Given the description of an element on the screen output the (x, y) to click on. 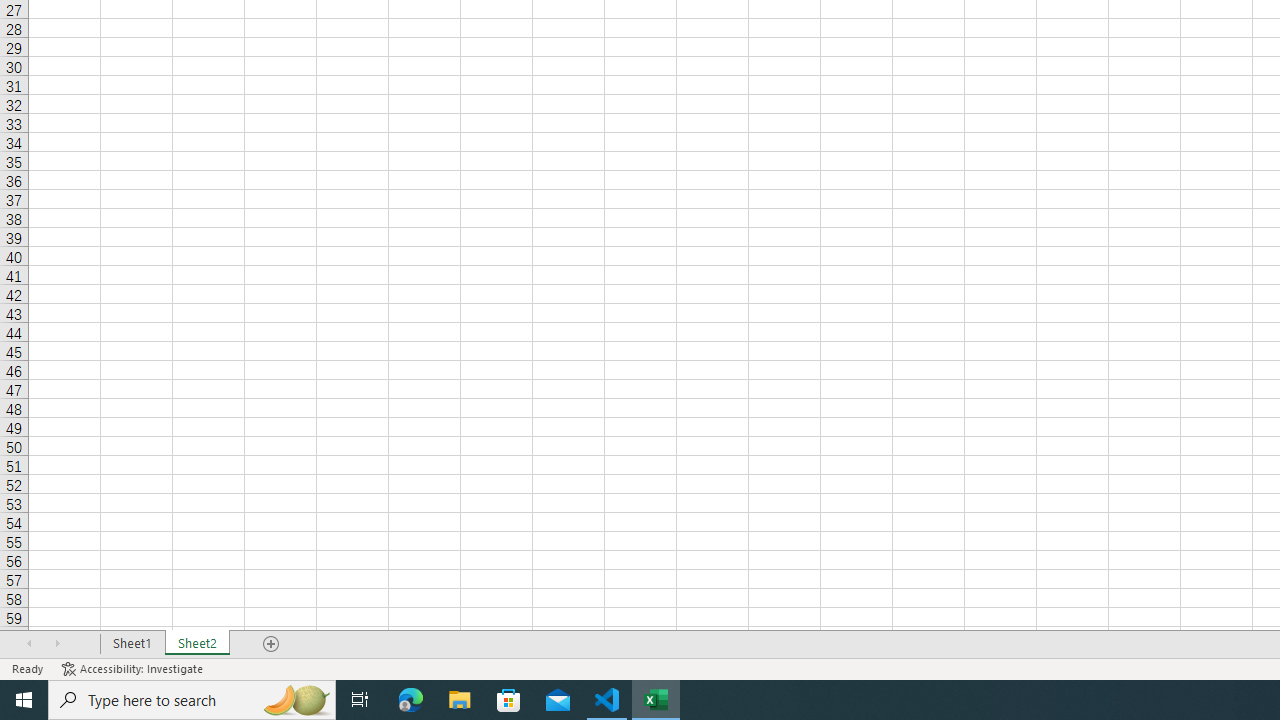
Accessibility Checker Accessibility: Investigate (134, 668)
Sheet2 (197, 644)
